Given the description of an element on the screen output the (x, y) to click on. 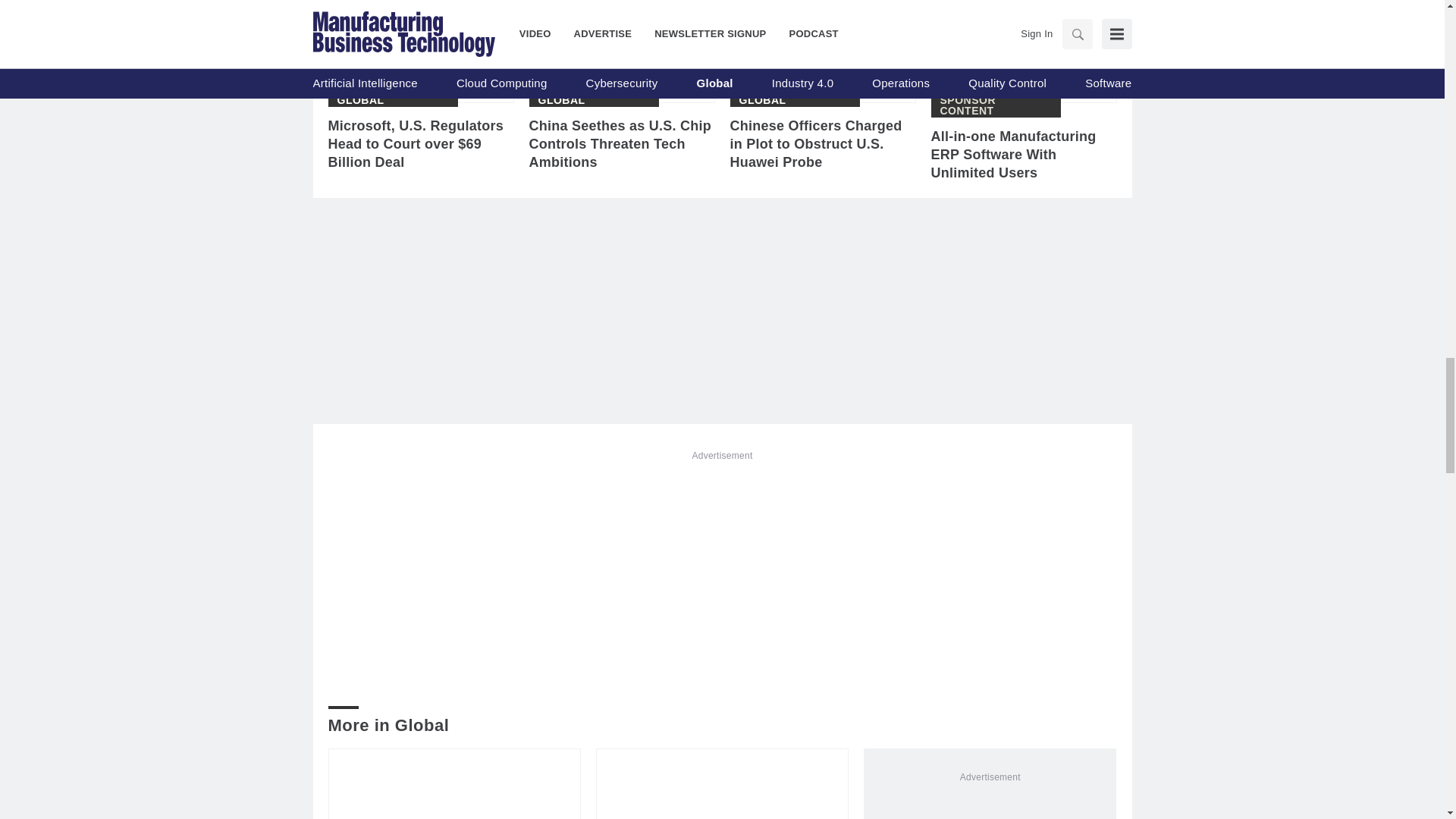
Global (360, 100)
Sponsor Content (996, 105)
Global (561, 100)
Global (762, 100)
